Given the description of an element on the screen output the (x, y) to click on. 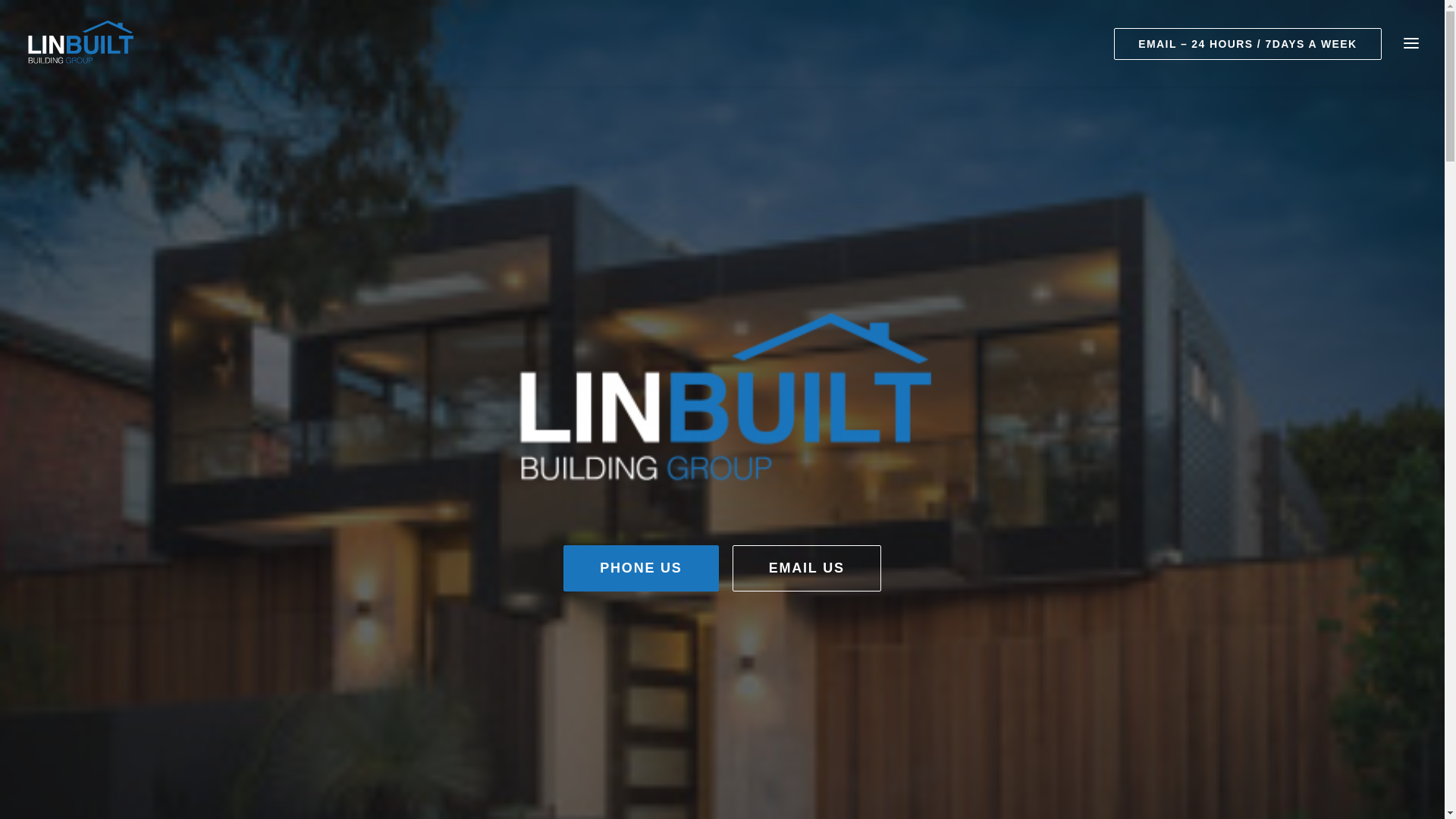
EMAIL US Element type: text (806, 568)
PHONE US Element type: text (640, 568)
